Given the description of an element on the screen output the (x, y) to click on. 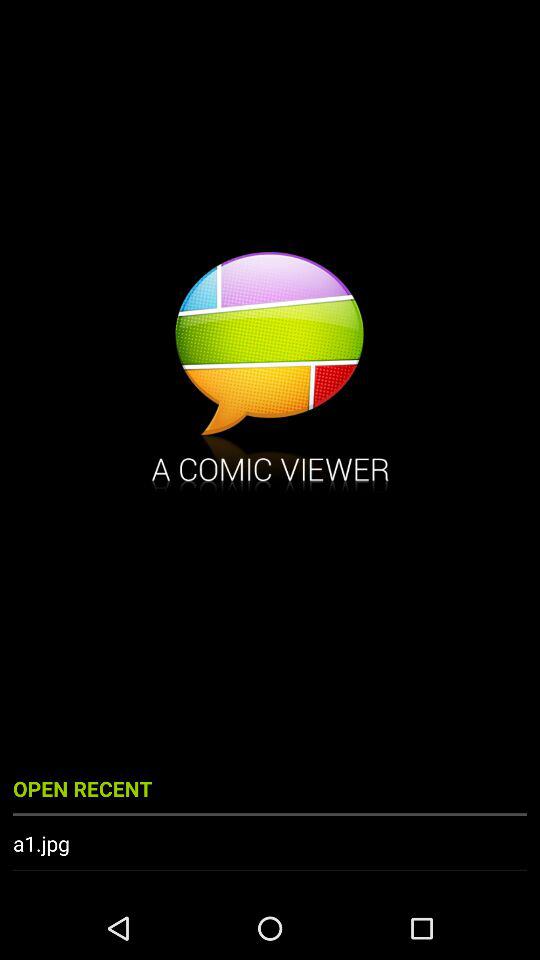
tap a1.jpg app (269, 843)
